Given the description of an element on the screen output the (x, y) to click on. 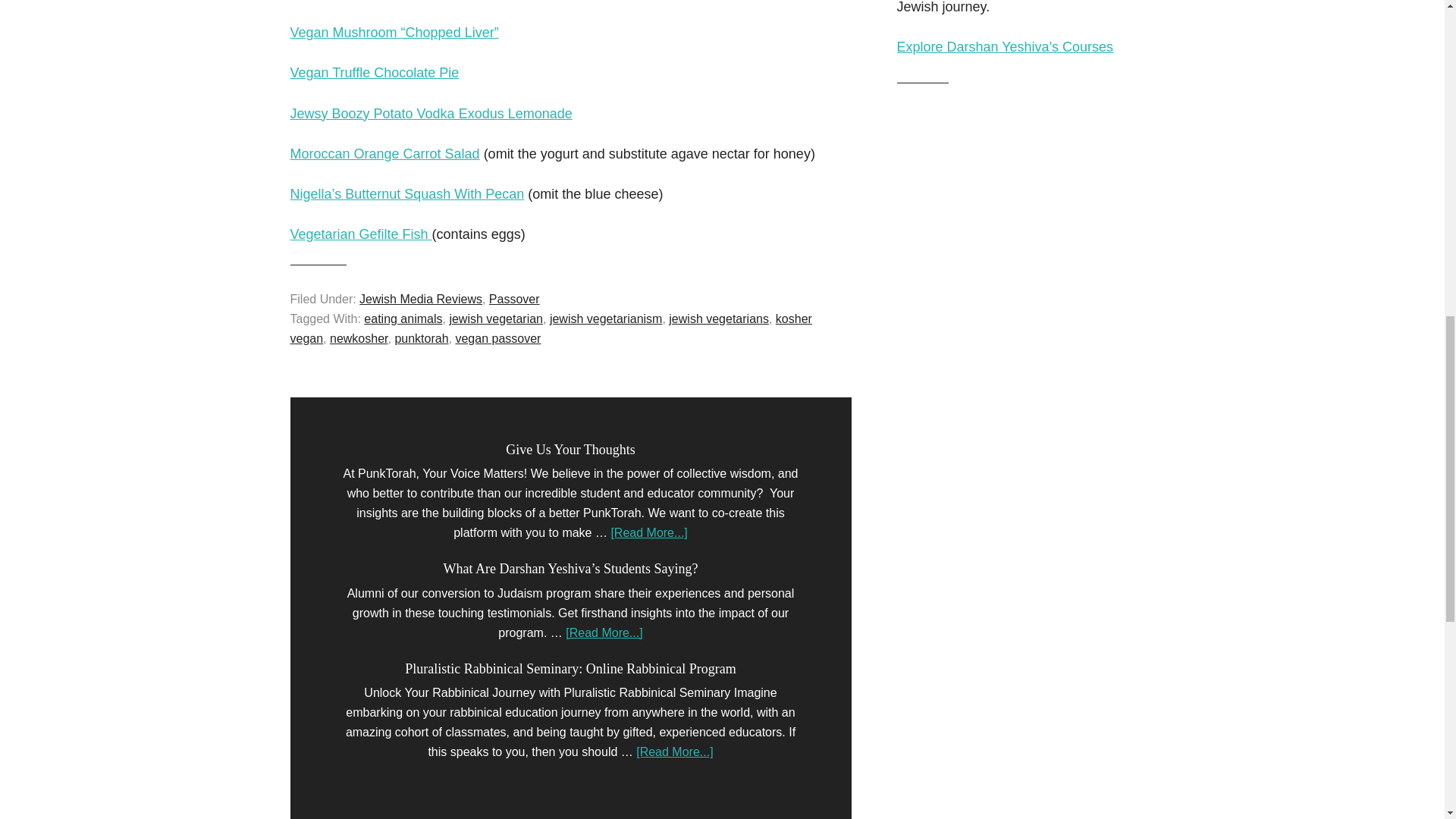
Pluralistic Rabbinical Seminary: Online Rabbinical Program (569, 668)
vegan passover (497, 338)
jewish vegetarian (495, 318)
Moroccan Orange Carrot Salad (384, 153)
Vegan Truffle Chocolate Pie (373, 72)
eating animals (403, 318)
Jewish Media Reviews (420, 298)
jewish vegetarians (718, 318)
Jewsy Boozy Potato Vodka Exodus Lemonade (430, 113)
Give Us Your Thoughts (569, 449)
kosher vegan (549, 328)
Explore Darshan Yeshiva's Courses (1004, 46)
jewish vegetarianism (606, 318)
Vegetarian Gefilte Fish (359, 233)
newkosher (359, 338)
